Given the description of an element on the screen output the (x, y) to click on. 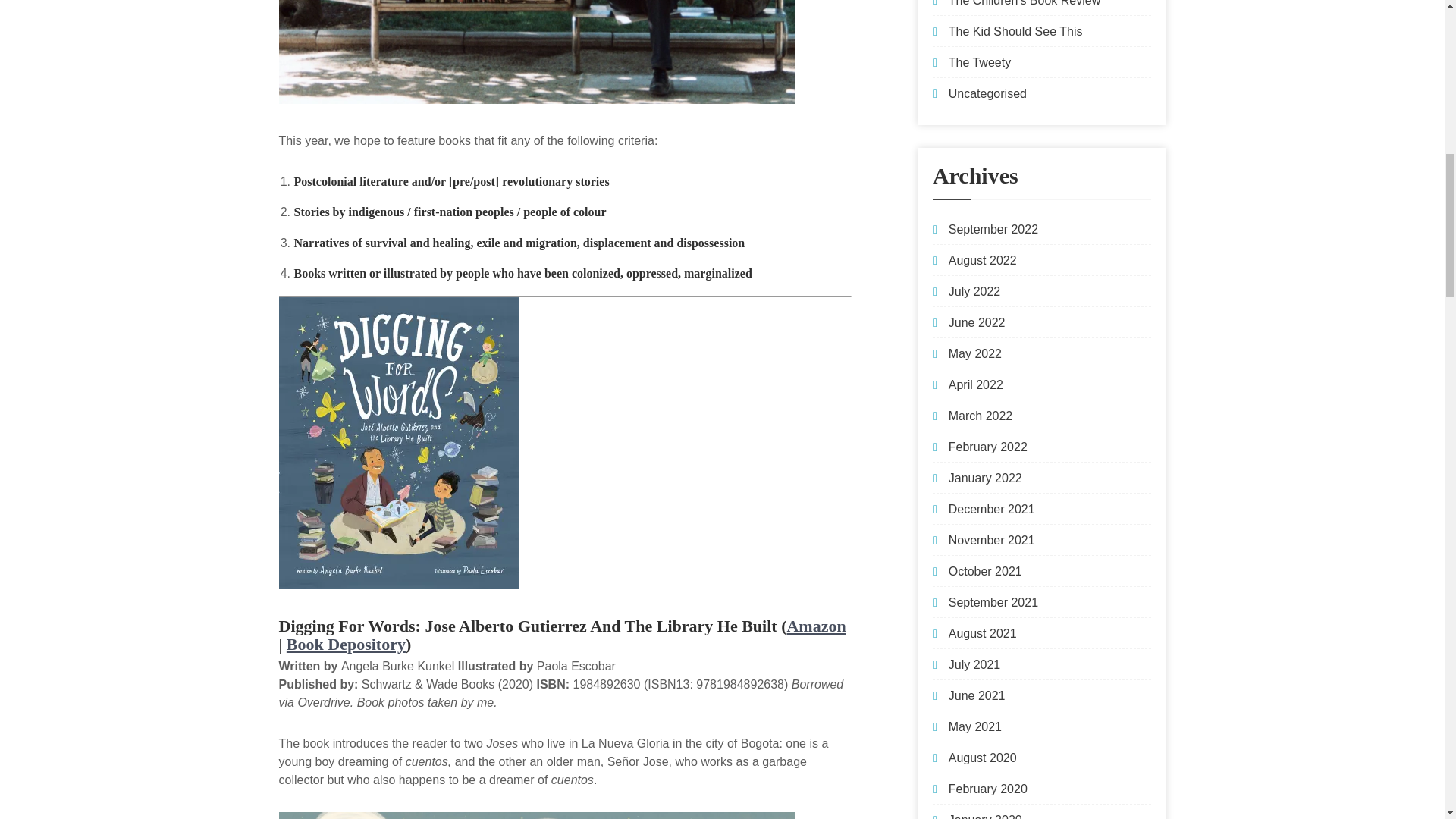
The Kid Should See This (1016, 31)
Uncategorised (987, 92)
Amazon (815, 625)
September 2022 (993, 228)
The Children's Book Review (1024, 3)
The Tweety (979, 62)
Book Depository (346, 643)
